Given the description of an element on the screen output the (x, y) to click on. 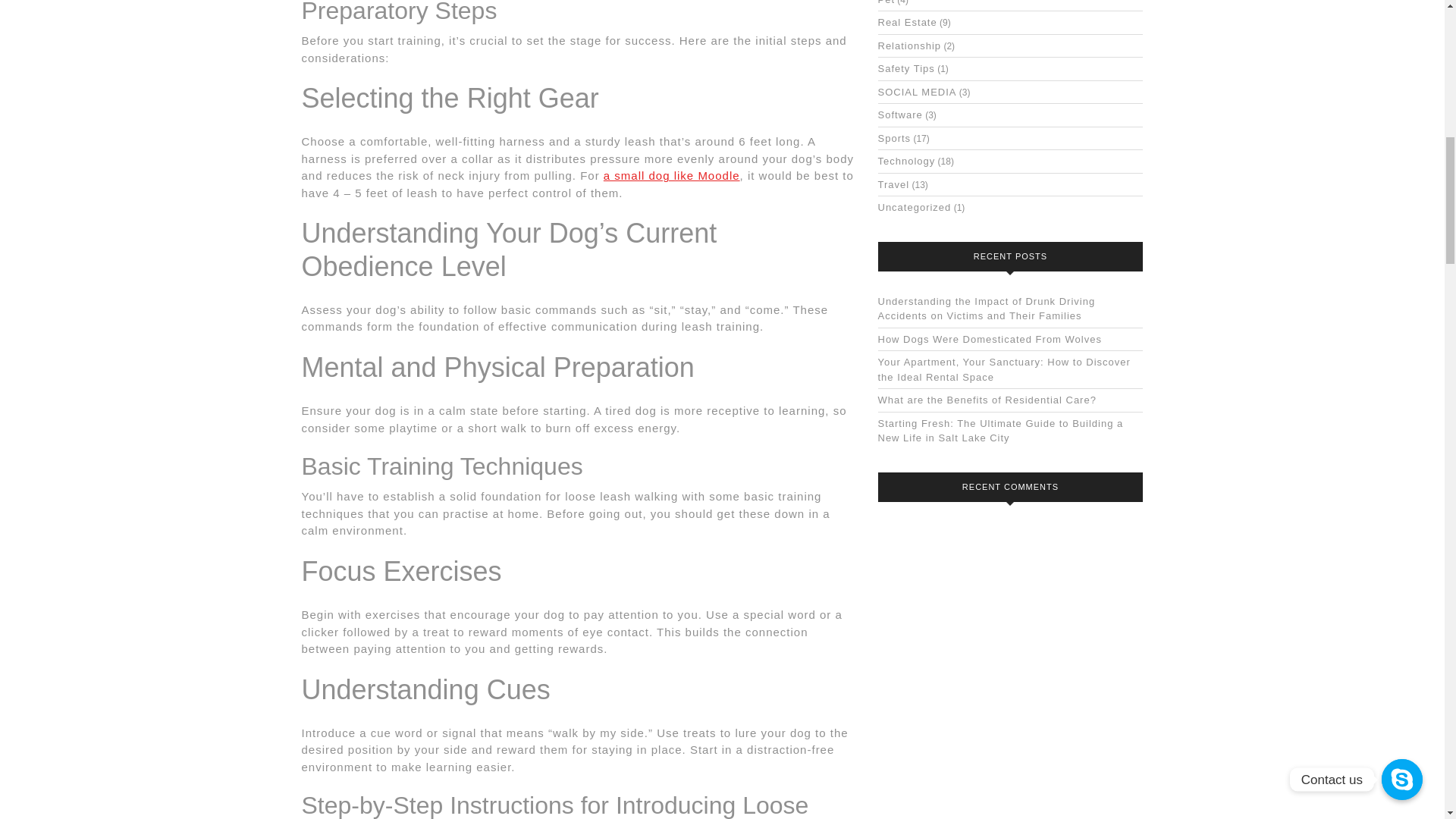
a small dog like Moodle (671, 174)
